Given the description of an element on the screen output the (x, y) to click on. 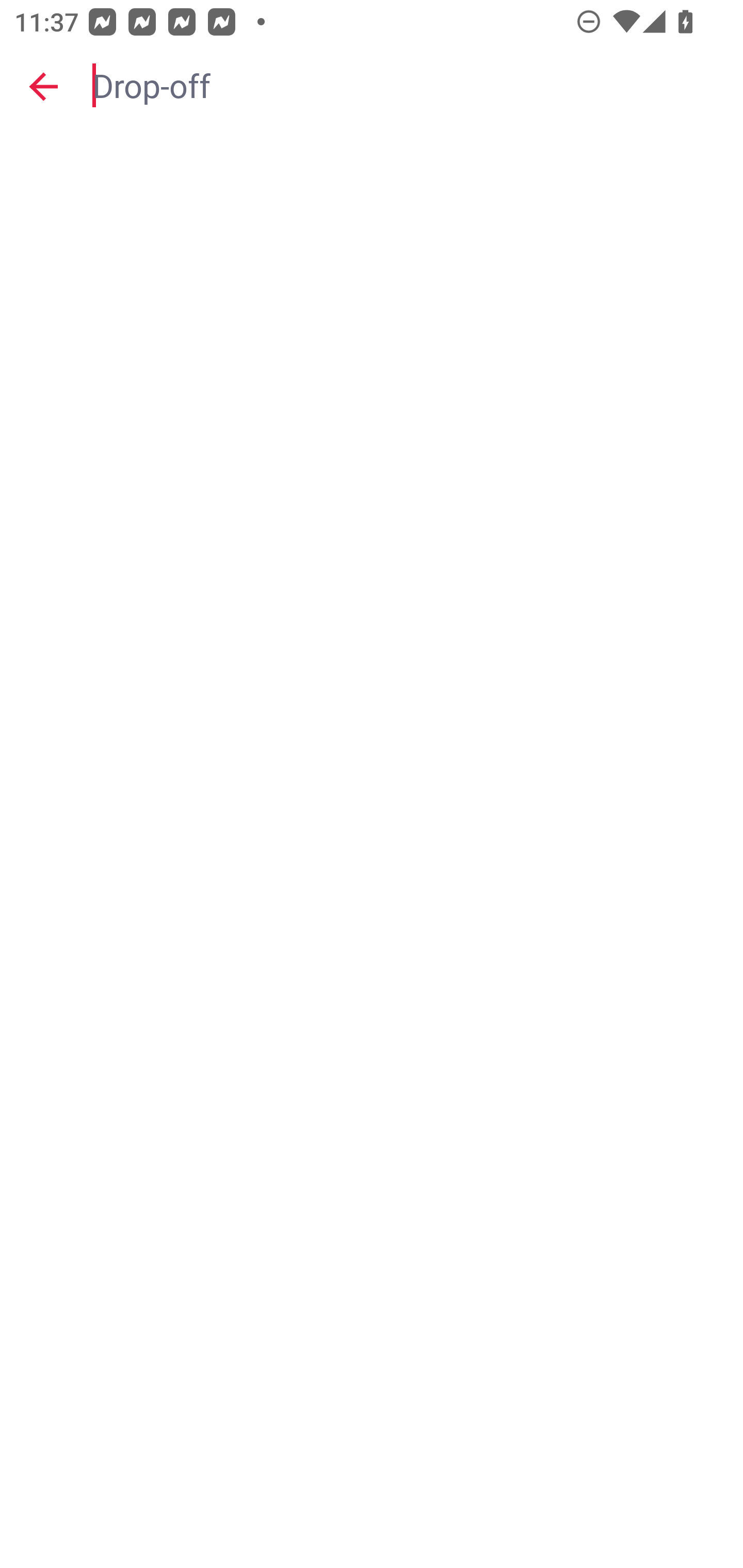
Drop-off,  (407, 85)
Close search screen (43, 86)
